Given the description of an element on the screen output the (x, y) to click on. 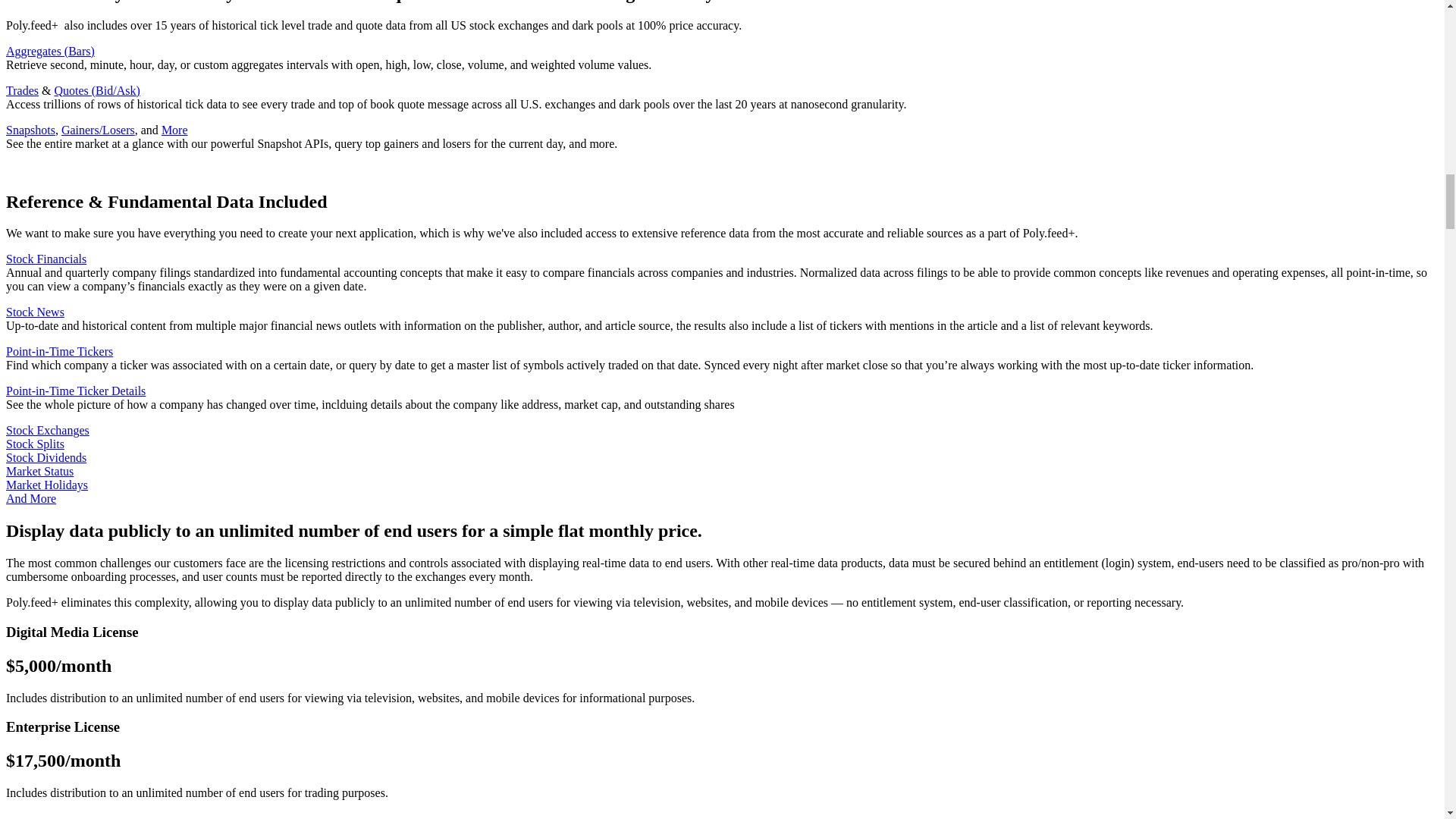
Point-in-Time Ticker Details (75, 390)
Stock Splits (34, 443)
Stock Exchanges (46, 430)
And More (30, 498)
Point-in-Time Tickers (59, 350)
Contact Us (49, 816)
Stock News (34, 311)
Stock Financials (45, 258)
Market Status (39, 471)
Stock Dividends (45, 457)
Snapshots (30, 129)
Trades (22, 90)
Market Holidays (46, 484)
More (174, 129)
